Given the description of an element on the screen output the (x, y) to click on. 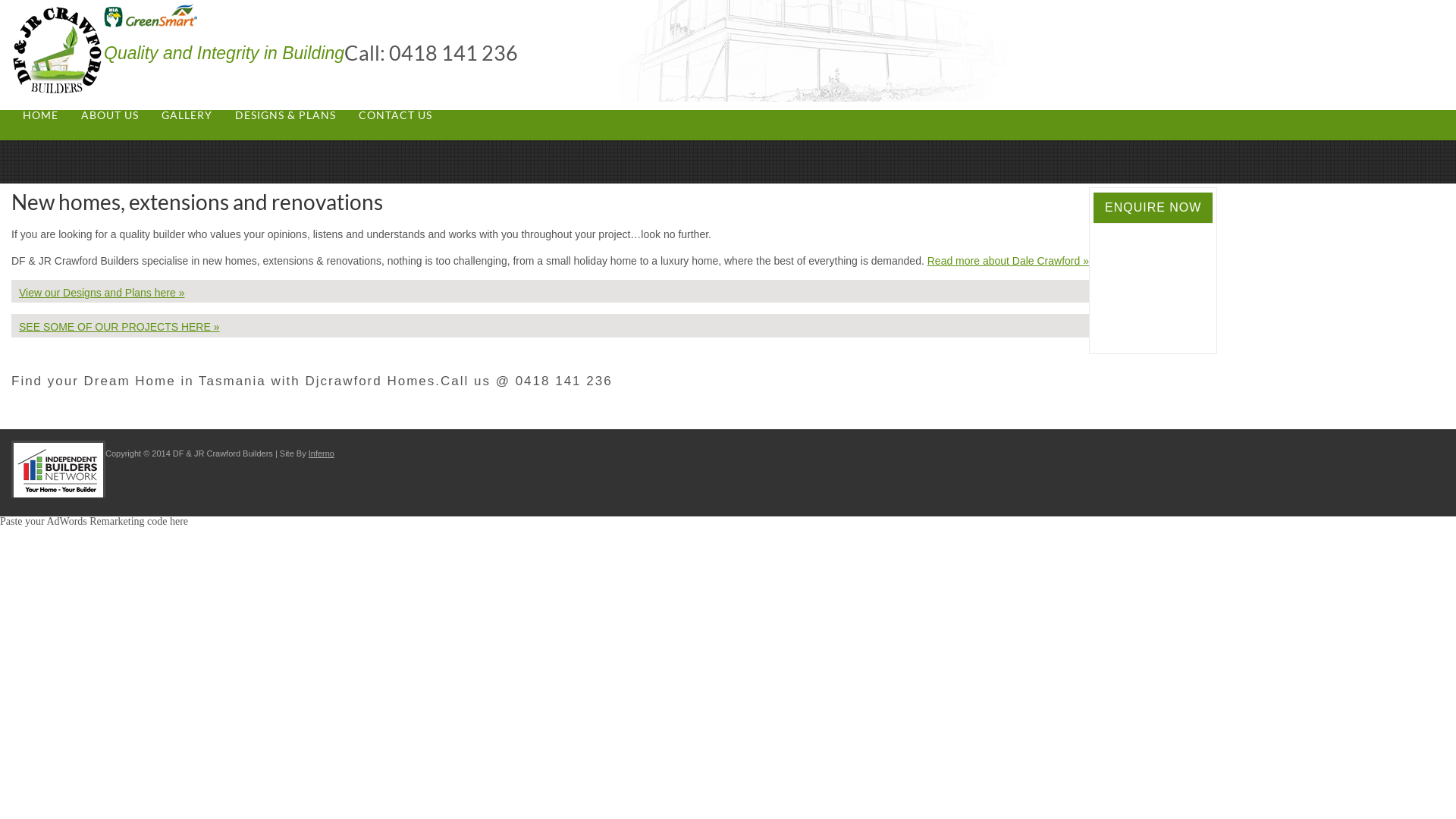
GALLERY Element type: text (186, 114)
CONTACT US Element type: text (395, 114)
HOME Element type: text (40, 114)
Inferno Element type: text (321, 453)
DESIGNS & PLANS Element type: text (285, 114)
GreenSmart Element type: hover (150, 15)
ABOUT US Element type: text (109, 114)
